Given the description of an element on the screen output the (x, y) to click on. 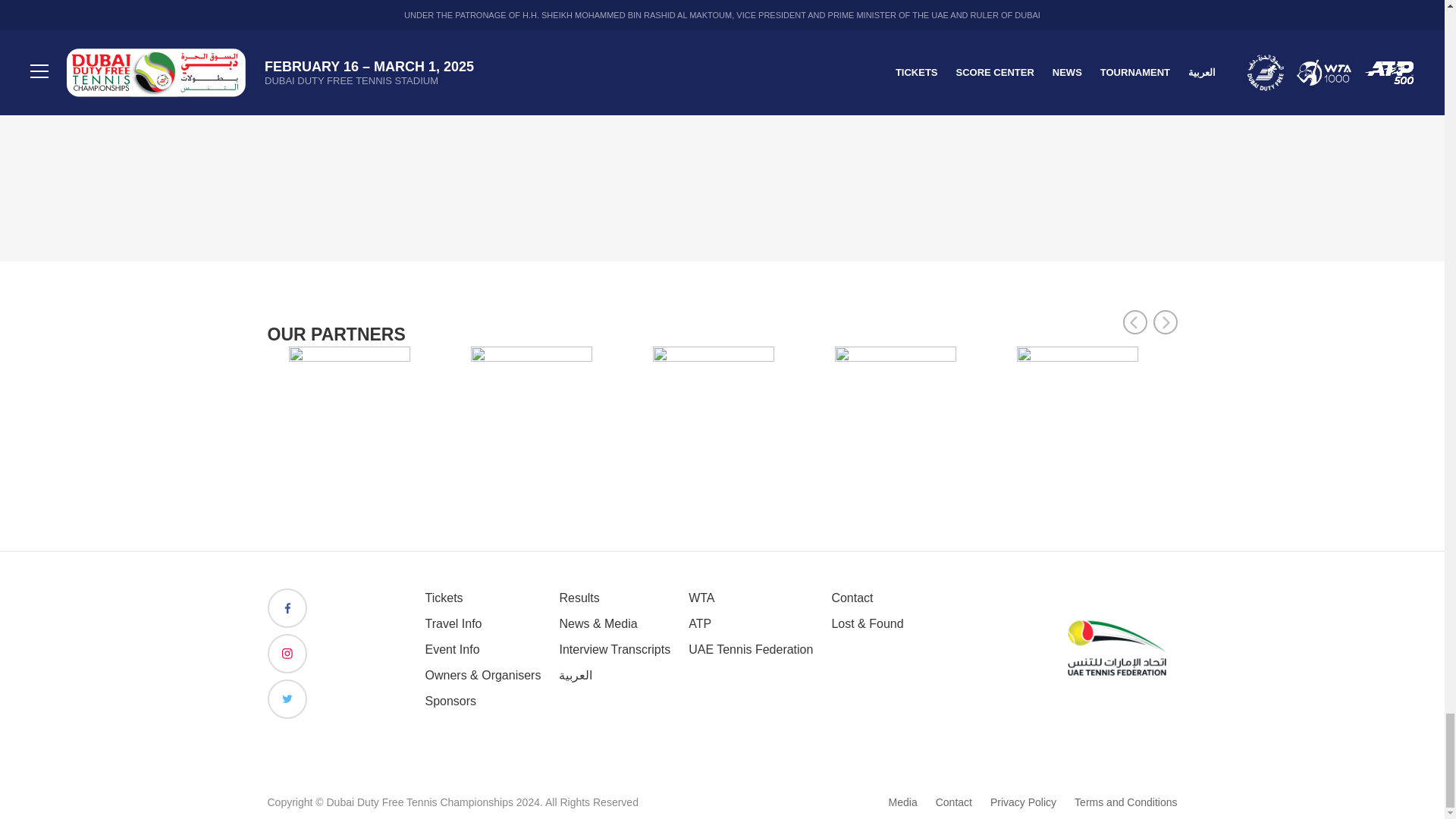
ArtboardCreated with Sketch. (1115, 649)
